Given the description of an element on the screen output the (x, y) to click on. 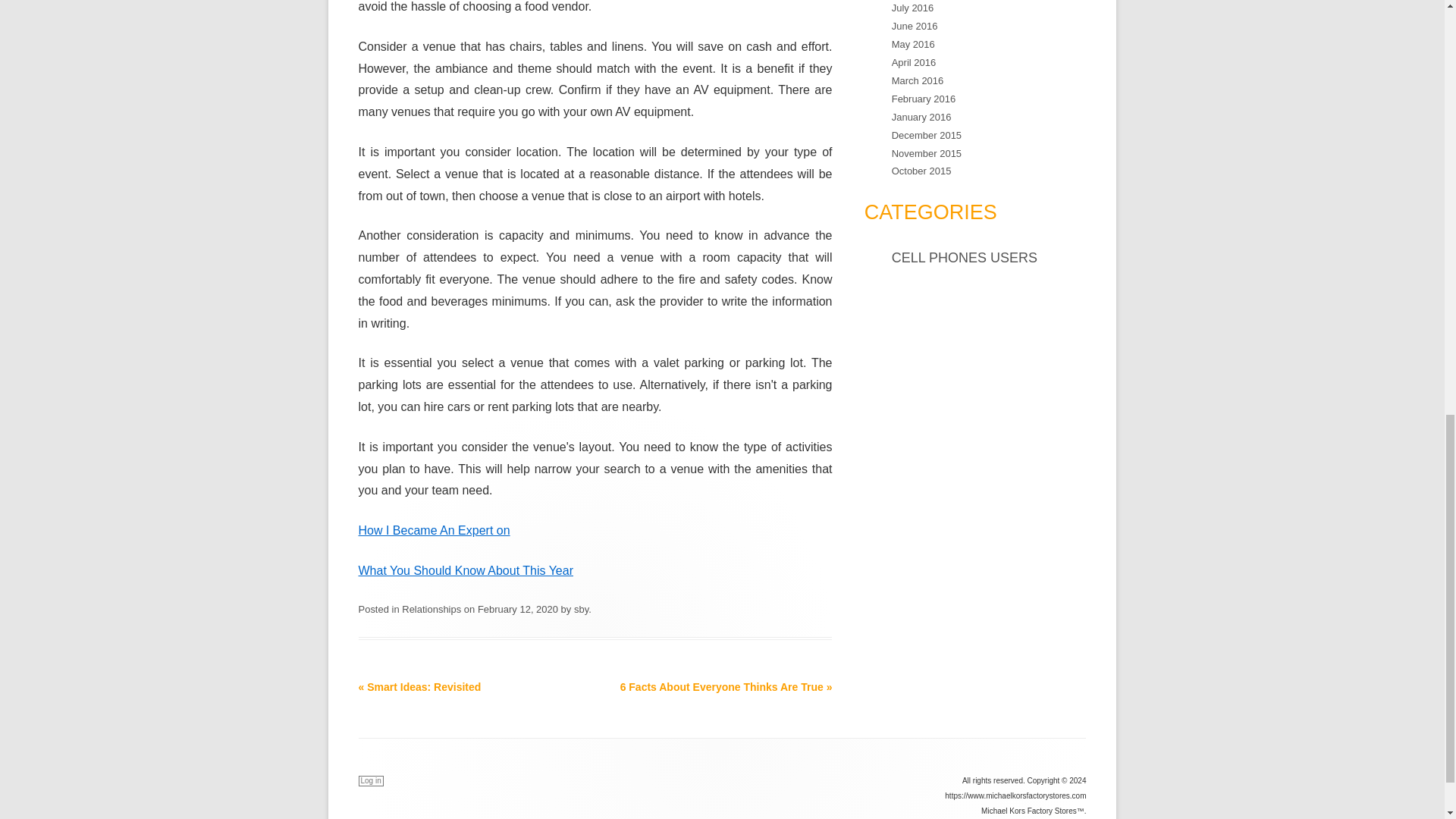
How I Became An Expert on (433, 530)
May 2016 (912, 43)
June 2016 (914, 25)
February 12, 2020 (517, 609)
View all posts by sby (580, 609)
March 2016 (917, 80)
Log in (370, 780)
CELL PHONES USERS (963, 257)
October 2015 (921, 170)
November 2015 (925, 152)
